Given the description of an element on the screen output the (x, y) to click on. 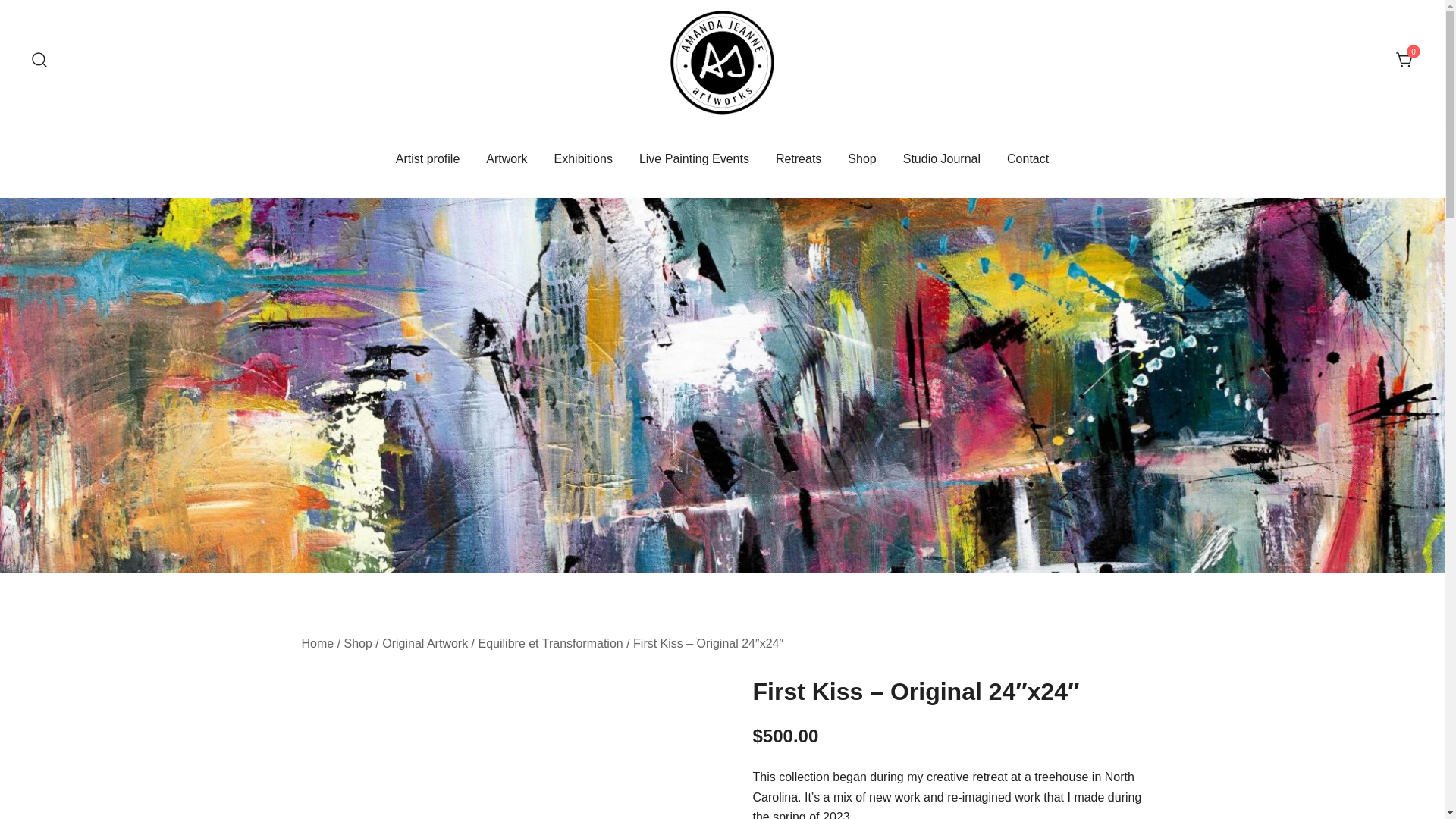
Amanda Jeanne Artworks (755, 137)
Home (317, 643)
View your shopping cart (1404, 59)
Artwork (506, 159)
0 (1404, 59)
Shop (357, 643)
Equilibre et Transformation (551, 643)
0 (1404, 59)
Studio Journal (940, 159)
Contact (1027, 159)
Live Painting Events (694, 159)
Artist profile (428, 159)
Retreats (798, 159)
Exhibitions (583, 159)
